Given the description of an element on the screen output the (x, y) to click on. 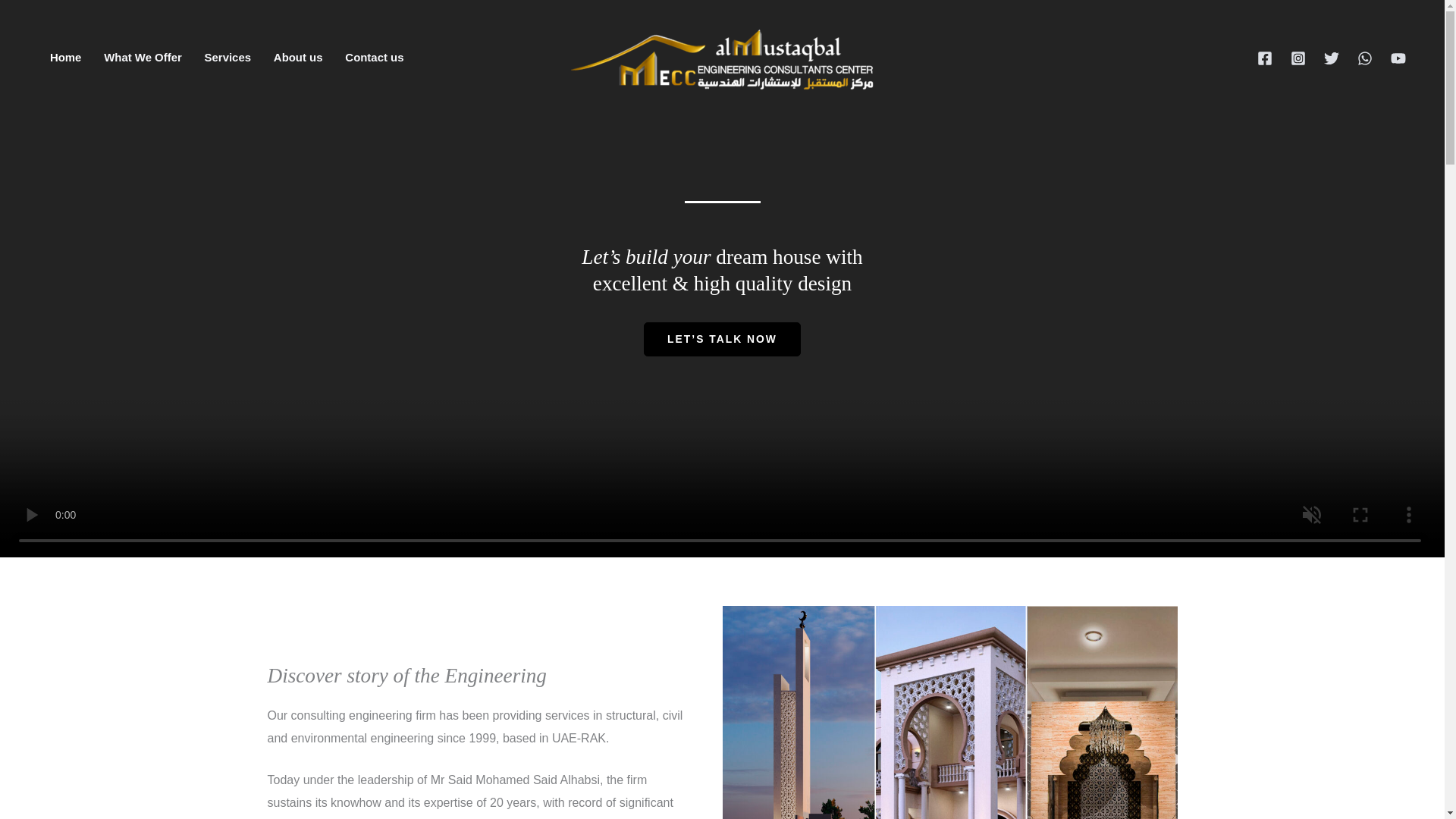
Home (66, 57)
What We Offer (142, 57)
Services (227, 57)
About us (298, 57)
Contact us (373, 57)
